Given the description of an element on the screen output the (x, y) to click on. 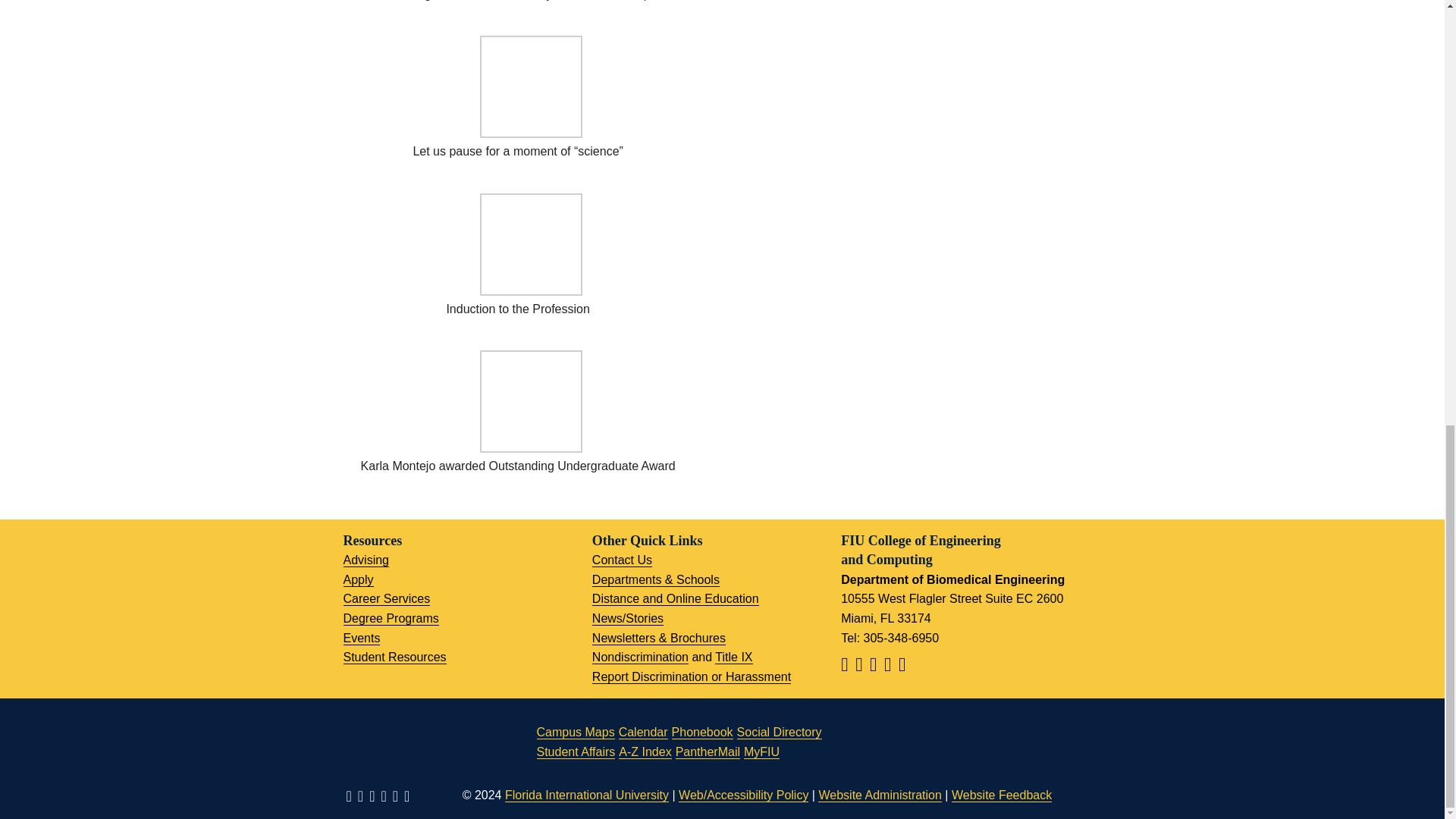
Follow us on Flickr (904, 666)
Follow us on YouTube (889, 666)
Follow us on Facebook (846, 666)
Follow us on Instagram (874, 666)
Follow us on Twitter (861, 666)
